Given the description of an element on the screen output the (x, y) to click on. 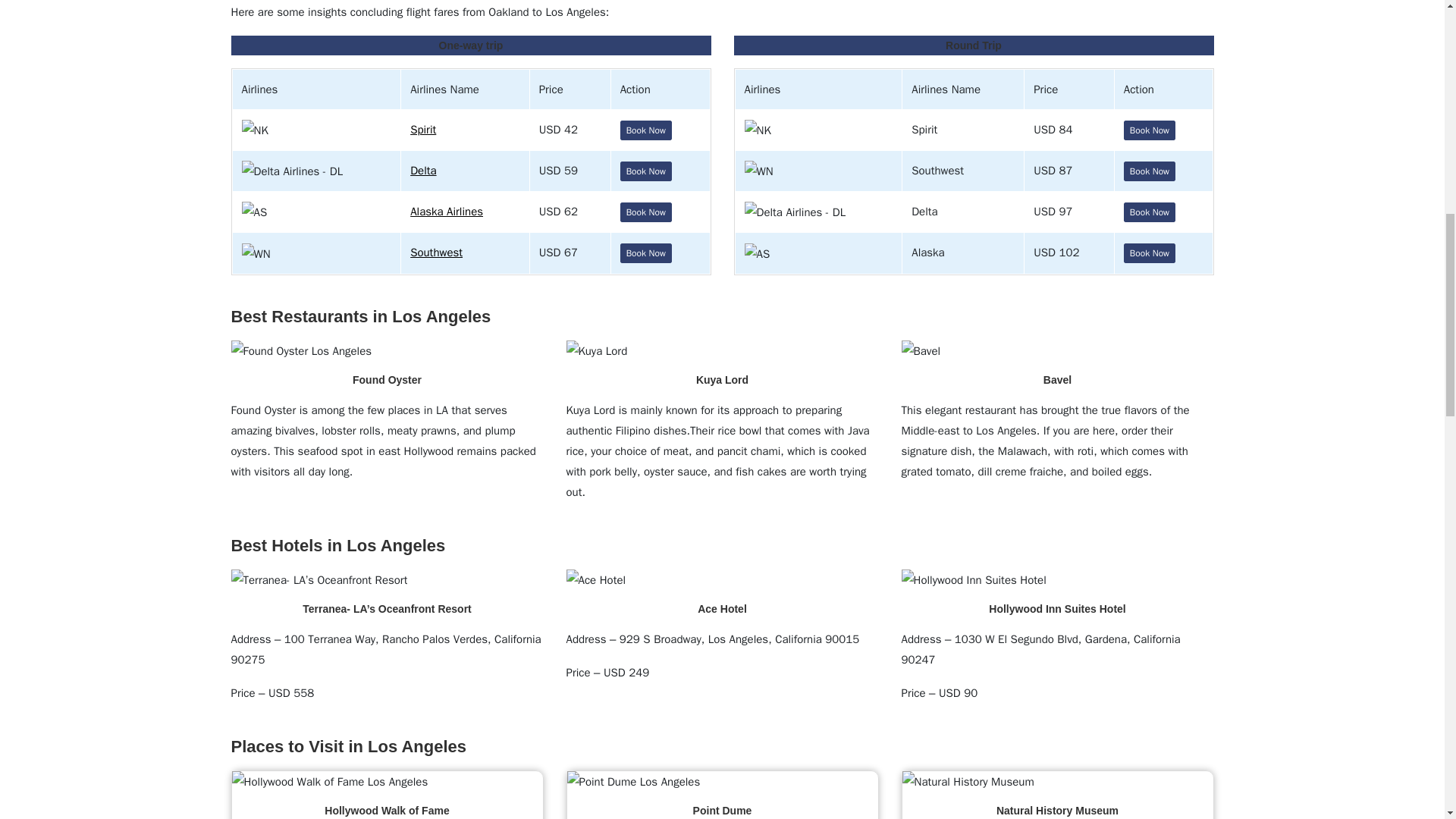
Book Now (645, 170)
Alaska Airlines (446, 211)
Delta (422, 170)
Spirit (422, 129)
Delta Airlines - DL - Lowest Flight Fares (291, 170)
Book Now (1149, 170)
Delta (422, 170)
Book Now (645, 211)
Southwest (436, 252)
Book Now (645, 130)
